Given the description of an element on the screen output the (x, y) to click on. 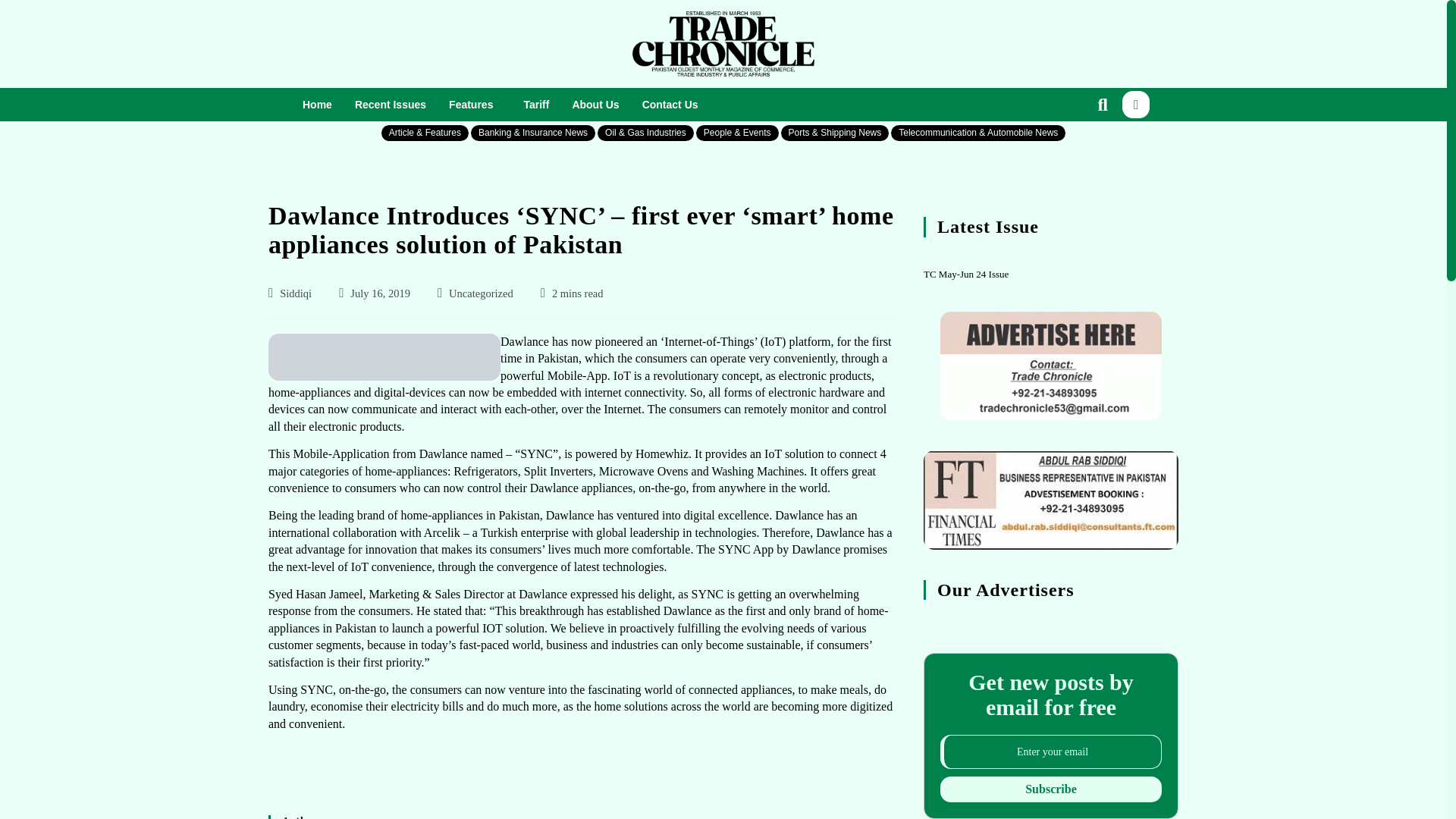
Tariff (536, 105)
Siddiqi (295, 293)
Home (317, 105)
Posts by Siddiqi (295, 293)
Uncategorized (480, 293)
Recent Issues (390, 105)
Features (475, 105)
Contact Us (670, 105)
About Us (595, 105)
